Given the description of an element on the screen output the (x, y) to click on. 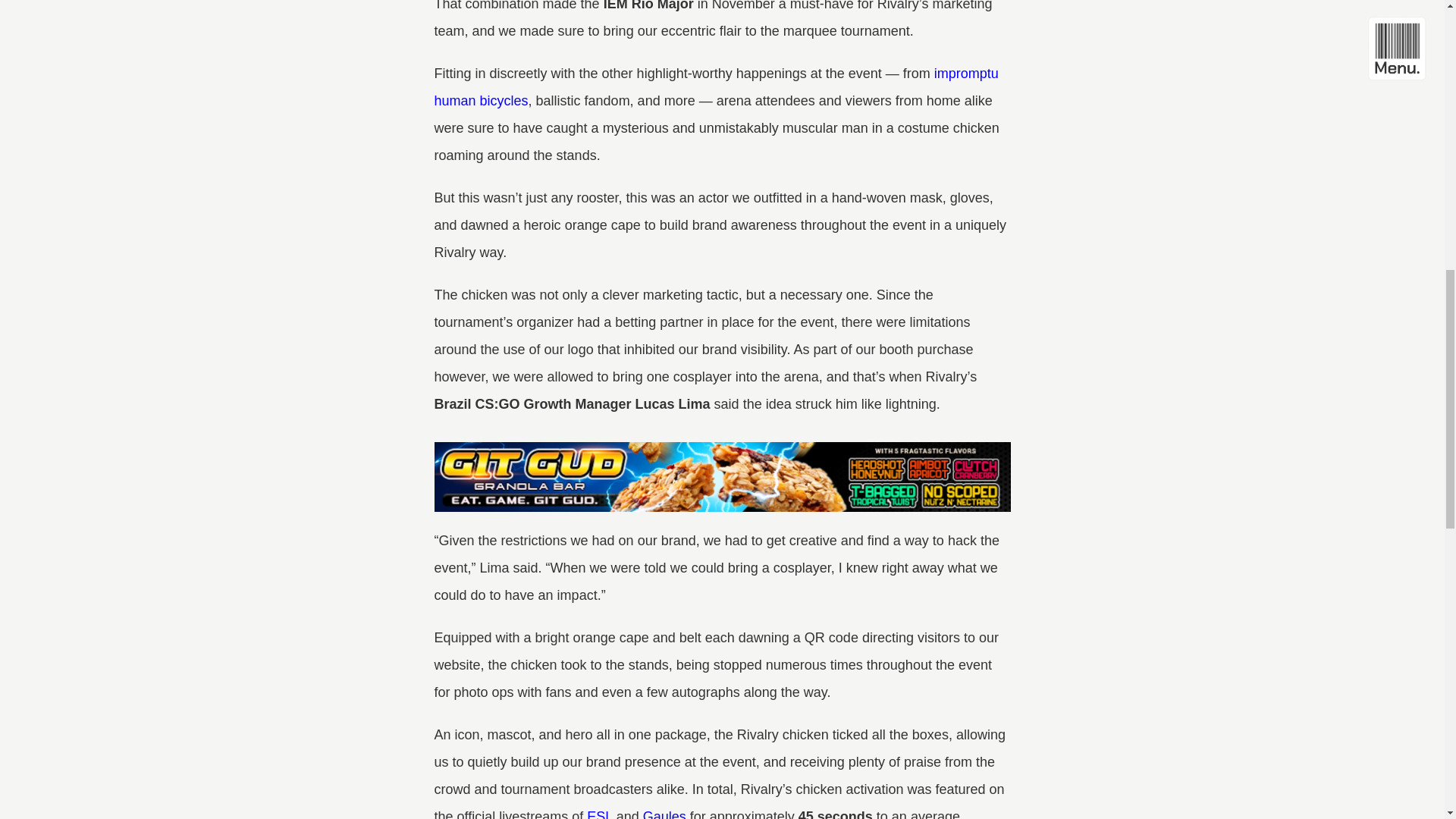
ESL (598, 814)
impromptu human bicycles (717, 87)
Gaules (664, 814)
